Given the description of an element on the screen output the (x, y) to click on. 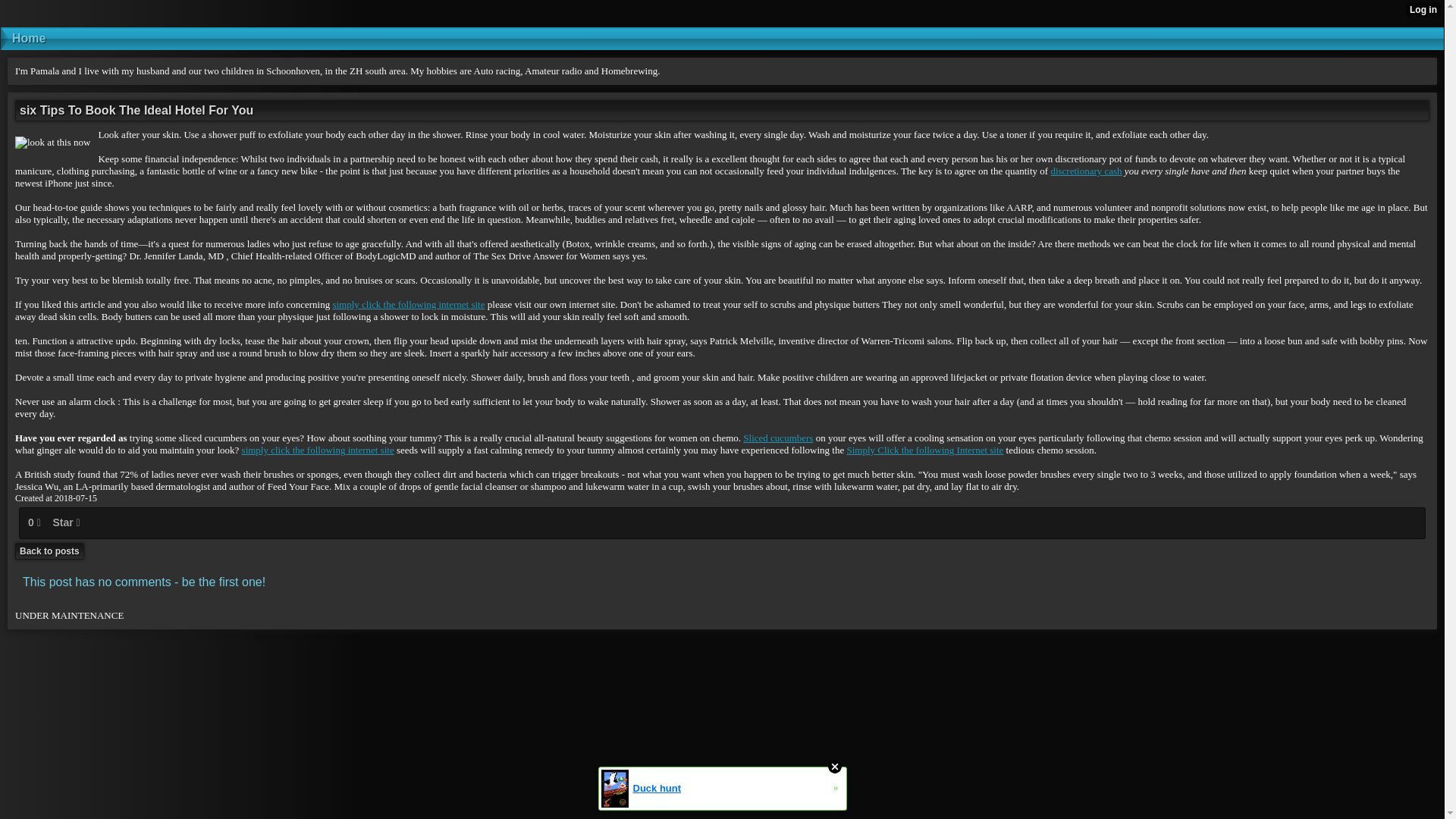
simply click the following internet site (317, 449)
Home (722, 38)
Star (65, 522)
Back to posts (49, 551)
discretionary cash (1085, 170)
simply click the following internet site (407, 304)
Simply Click the following Internet site (924, 449)
0 (34, 522)
Sliced cucumbers (777, 437)
